Given the description of an element on the screen output the (x, y) to click on. 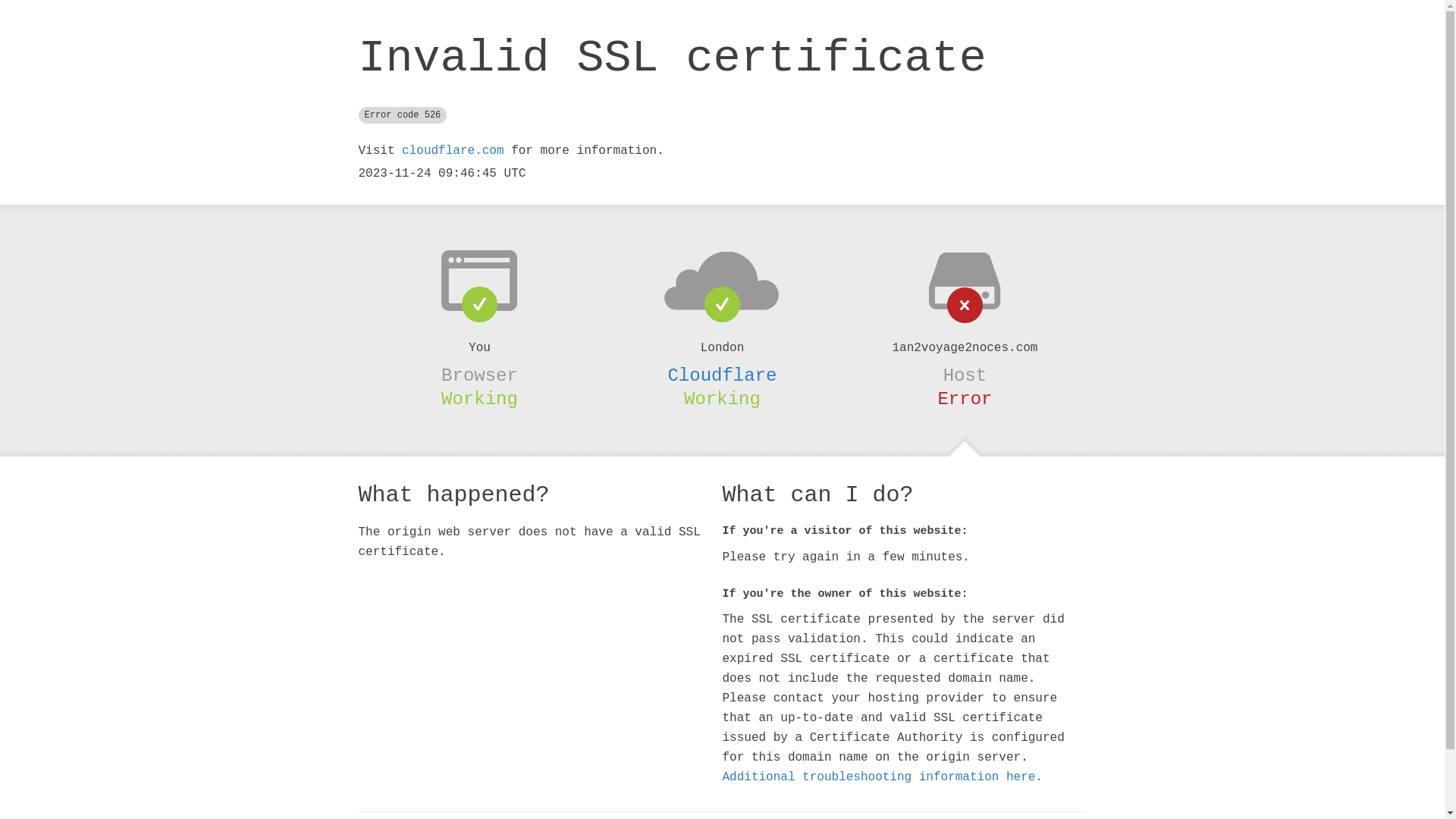
Cloudflare Element type: text (721, 375)
cloudflare.com Element type: text (452, 150)
Additional troubleshooting information here. Element type: text (881, 777)
